Given the description of an element on the screen output the (x, y) to click on. 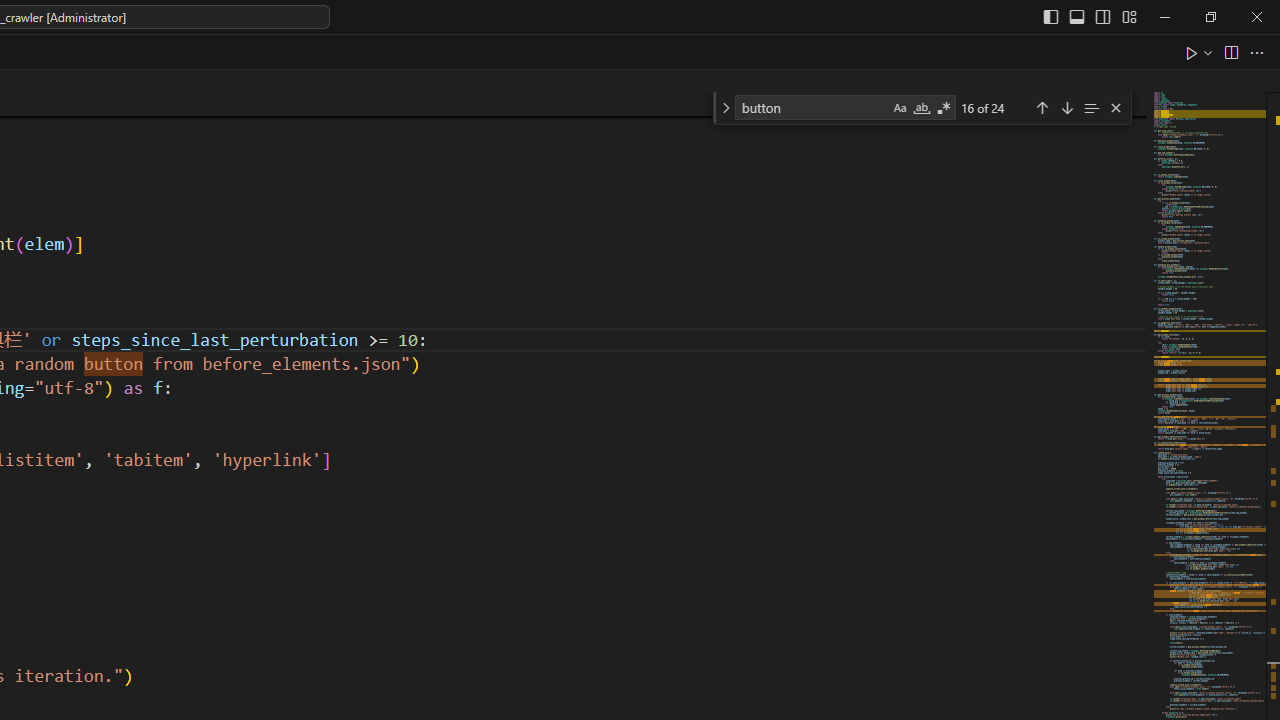
Find in Selection (Alt+L) (1091, 106)
Match Whole Word (Alt+W) (921, 107)
Title actions (1089, 16)
Toggle Secondary Side Bar (Ctrl+Alt+B) (1102, 16)
Editor actions (1226, 52)
Toggle Primary Side Bar (Ctrl+B) (1050, 16)
